Given the description of an element on the screen output the (x, y) to click on. 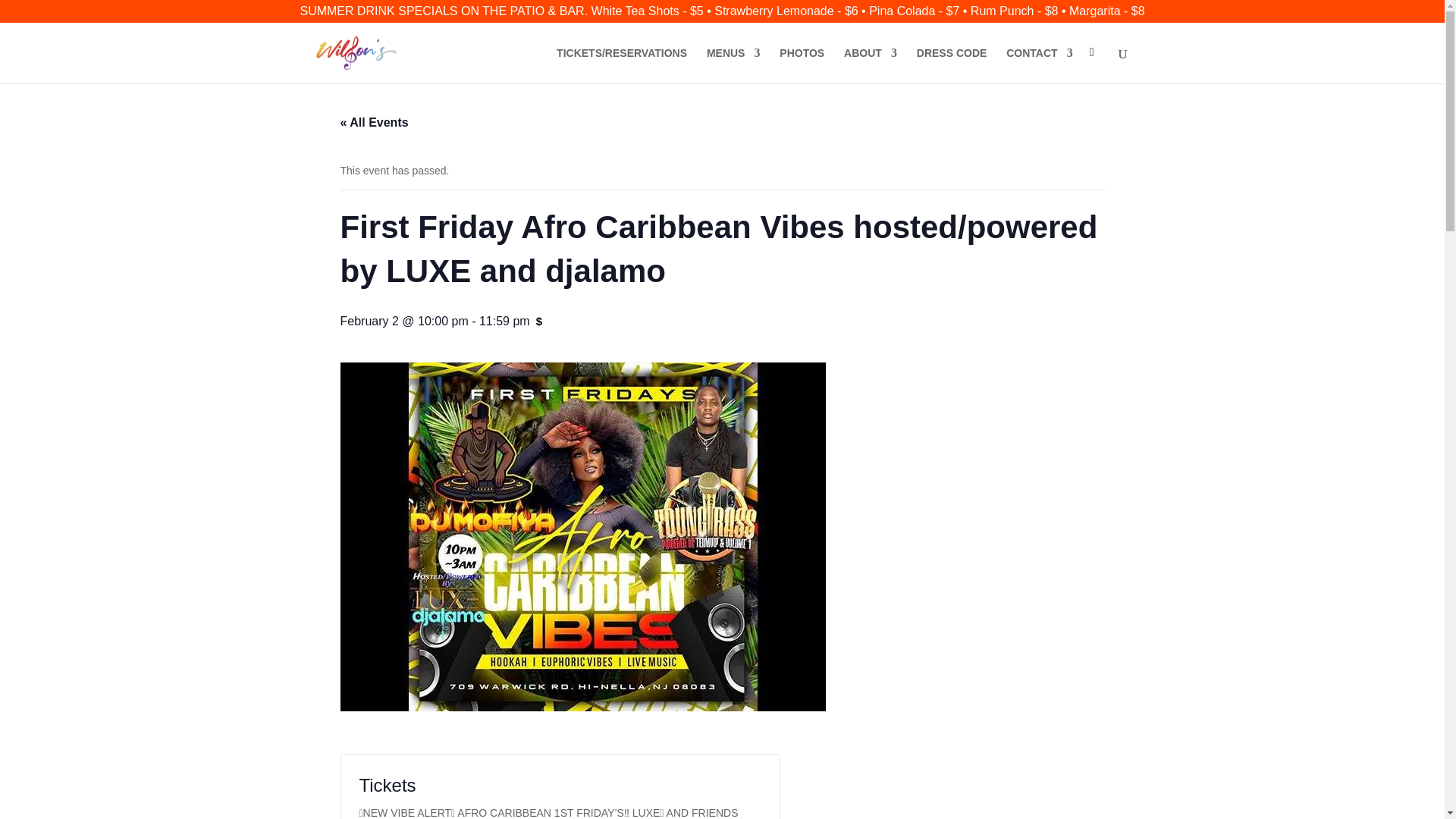
ABOUT (870, 65)
CONTACT (1038, 65)
DRESS CODE (952, 65)
MENUS (733, 65)
PHOTOS (801, 65)
